Given the description of an element on the screen output the (x, y) to click on. 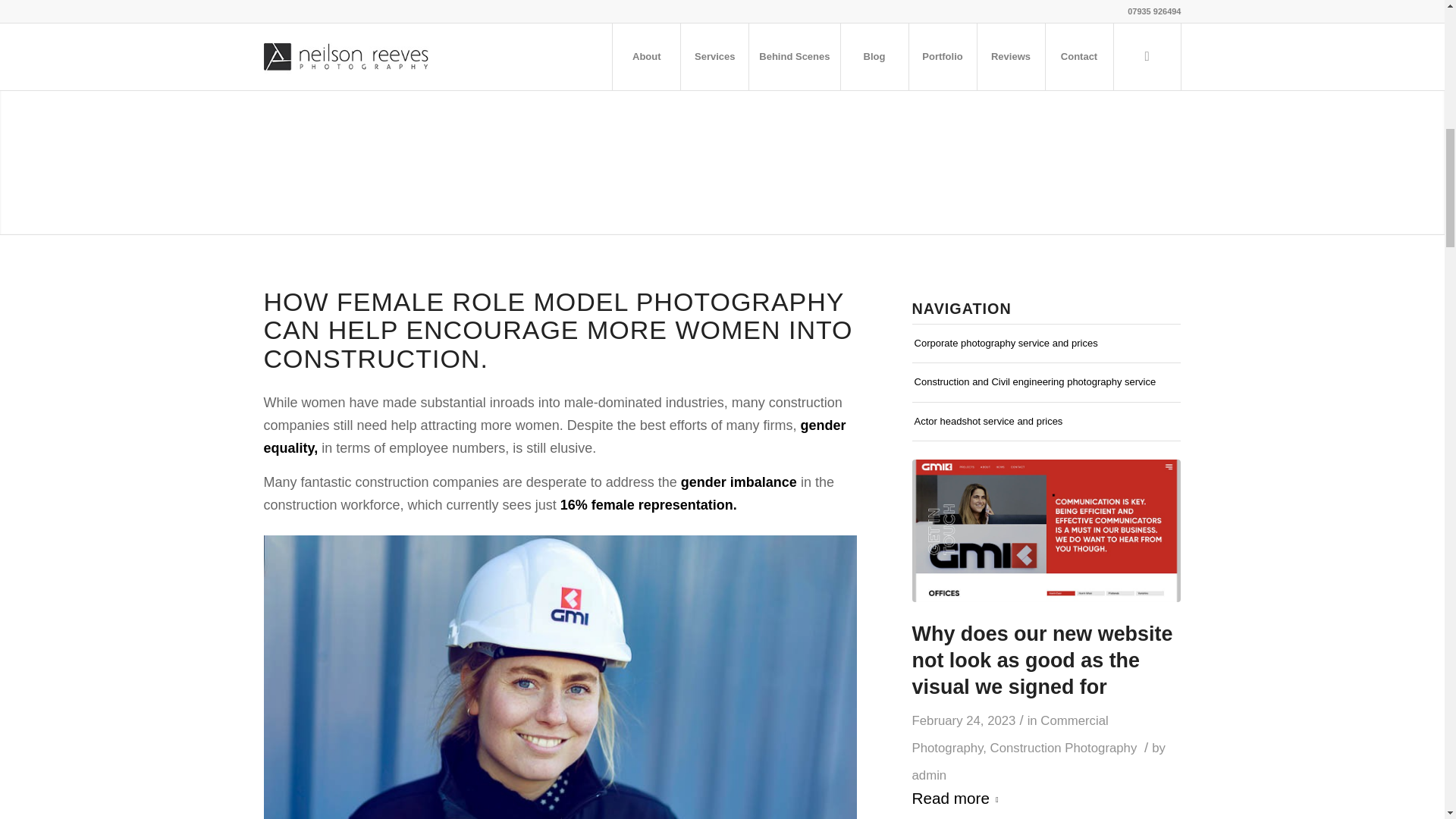
Corporate photography service and prices (1046, 343)
Actor headshot service and prices (1046, 421)
Read more (958, 798)
Posts by admin (929, 775)
Construction and Civil engineering photography service (1046, 382)
Commercial Photography (1010, 734)
Construction Photography (1063, 748)
